Given the description of an element on the screen output the (x, y) to click on. 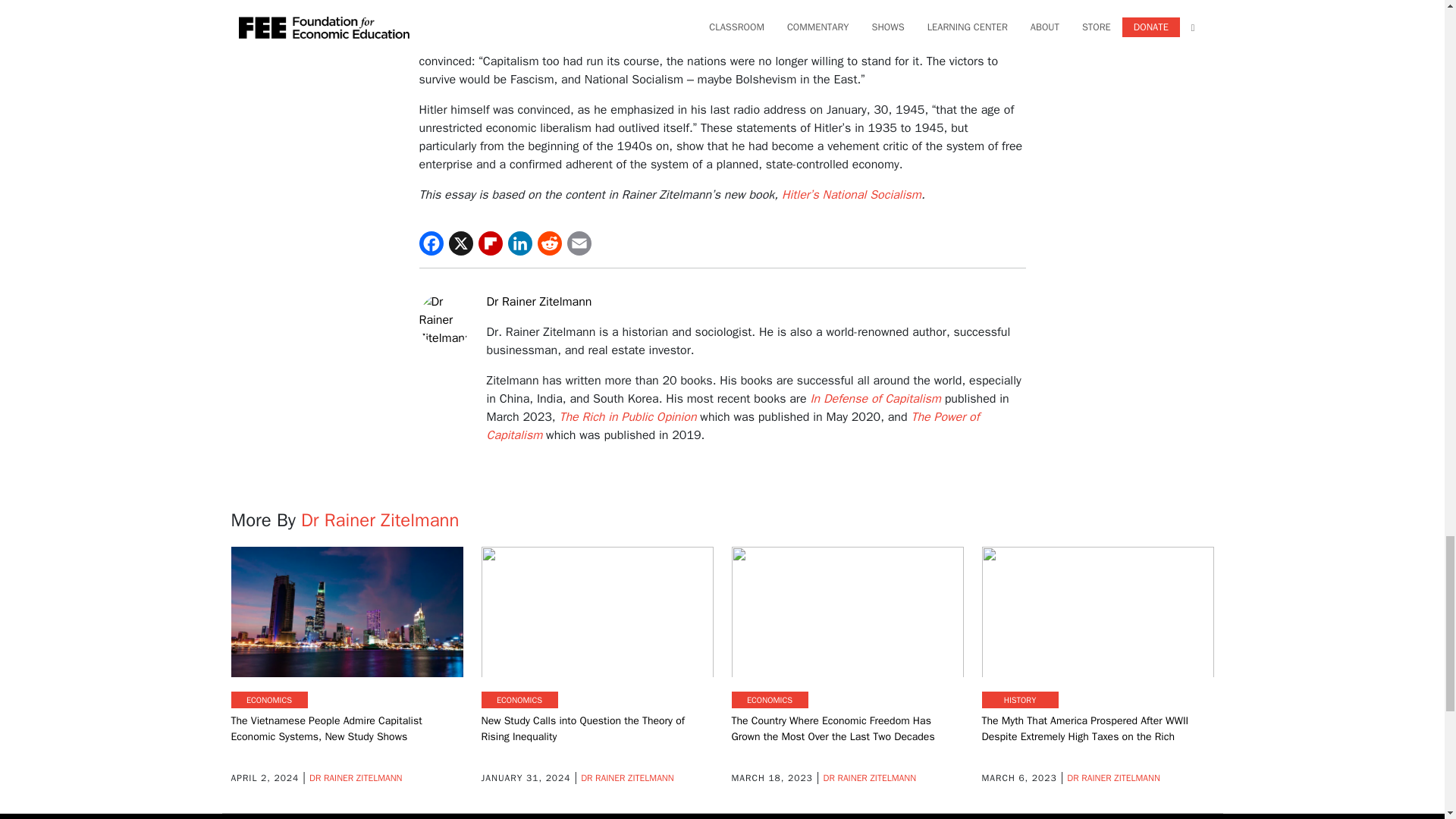
Twitter (460, 242)
Dr Rainer Zitelmann (452, 319)
Reddit (548, 242)
Flipboard (489, 242)
Dr Rainer Zitelmann (539, 301)
Facebook (430, 242)
Email (579, 242)
LinkedIn (520, 242)
